Given the description of an element on the screen output the (x, y) to click on. 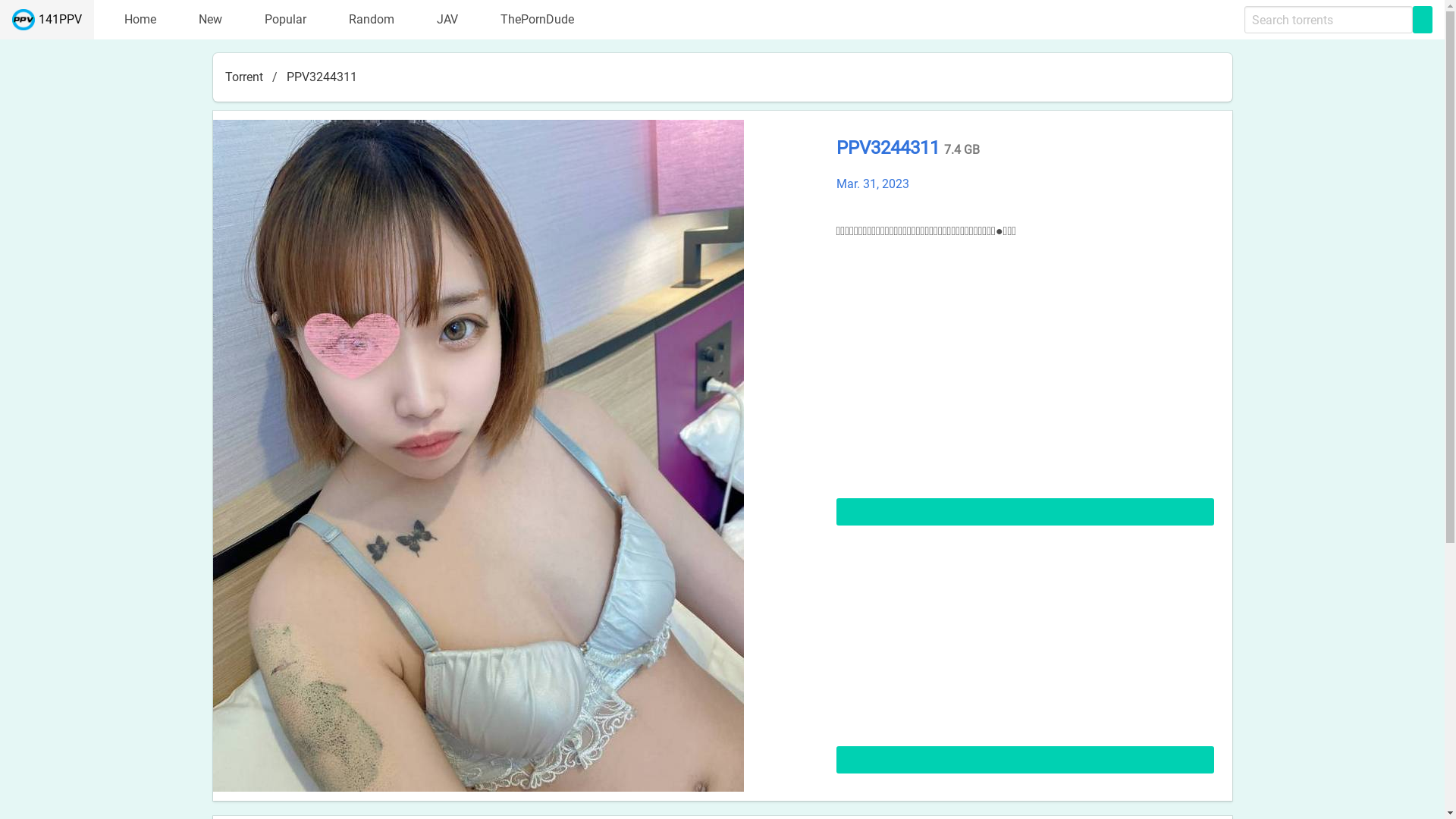
ThePornDude Element type: text (528, 19)
JAV Element type: text (438, 19)
New Element type: text (201, 19)
Download .torrent Element type: hover (1024, 759)
141PPV Element type: text (47, 19)
Home Element type: text (131, 19)
Magnet torrent Element type: hover (1024, 510)
Random Element type: text (362, 19)
Mar. 31, 2023 Element type: text (871, 183)
PPV3244311 Element type: text (889, 147)
Popular Element type: text (276, 19)
PPV3244311 Element type: text (321, 77)
Torrent Element type: text (247, 77)
